Given the description of an element on the screen output the (x, y) to click on. 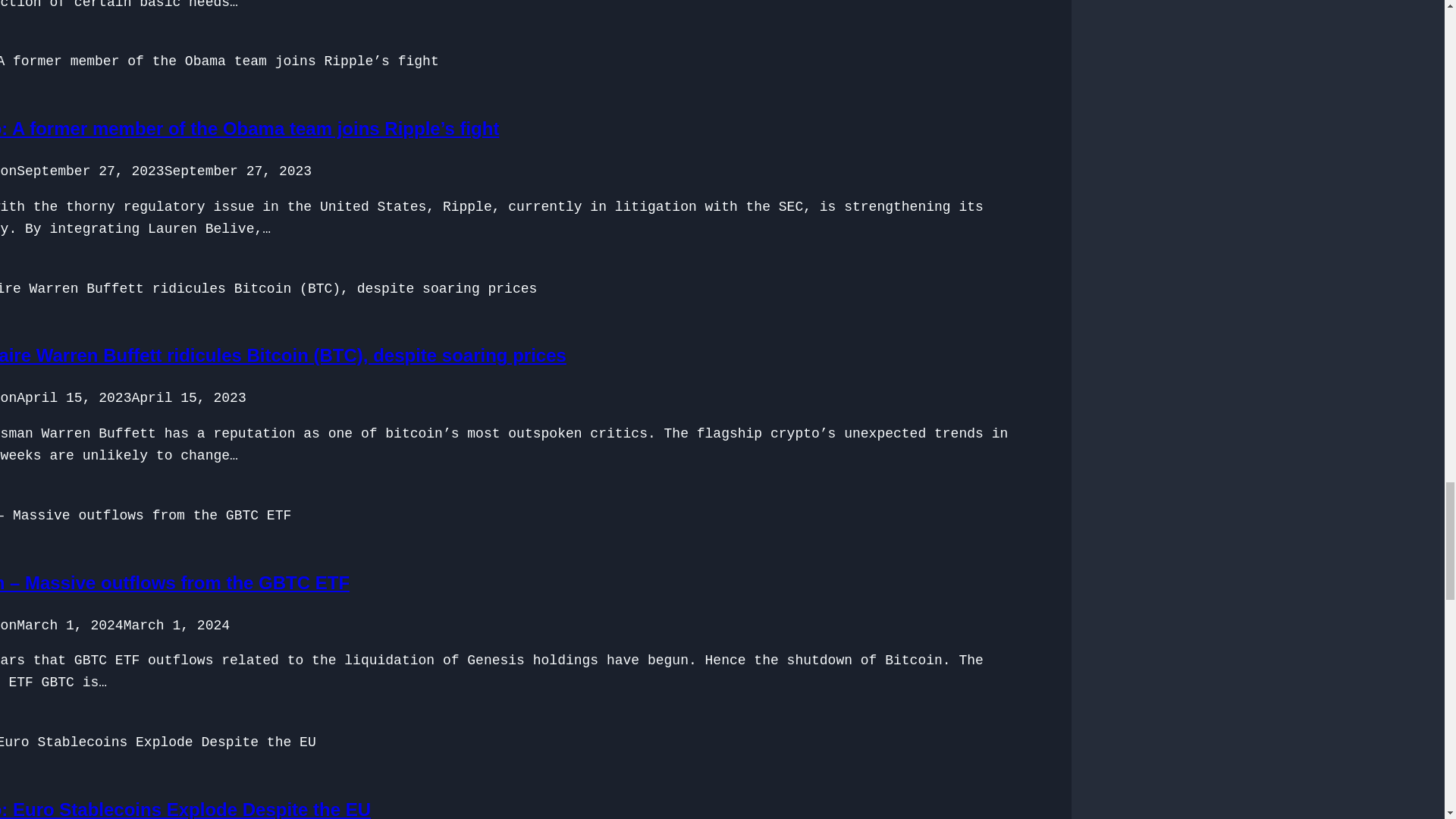
Crypto: Euro Stablecoins Explode Despite the EU (185, 809)
